Given the description of an element on the screen output the (x, y) to click on. 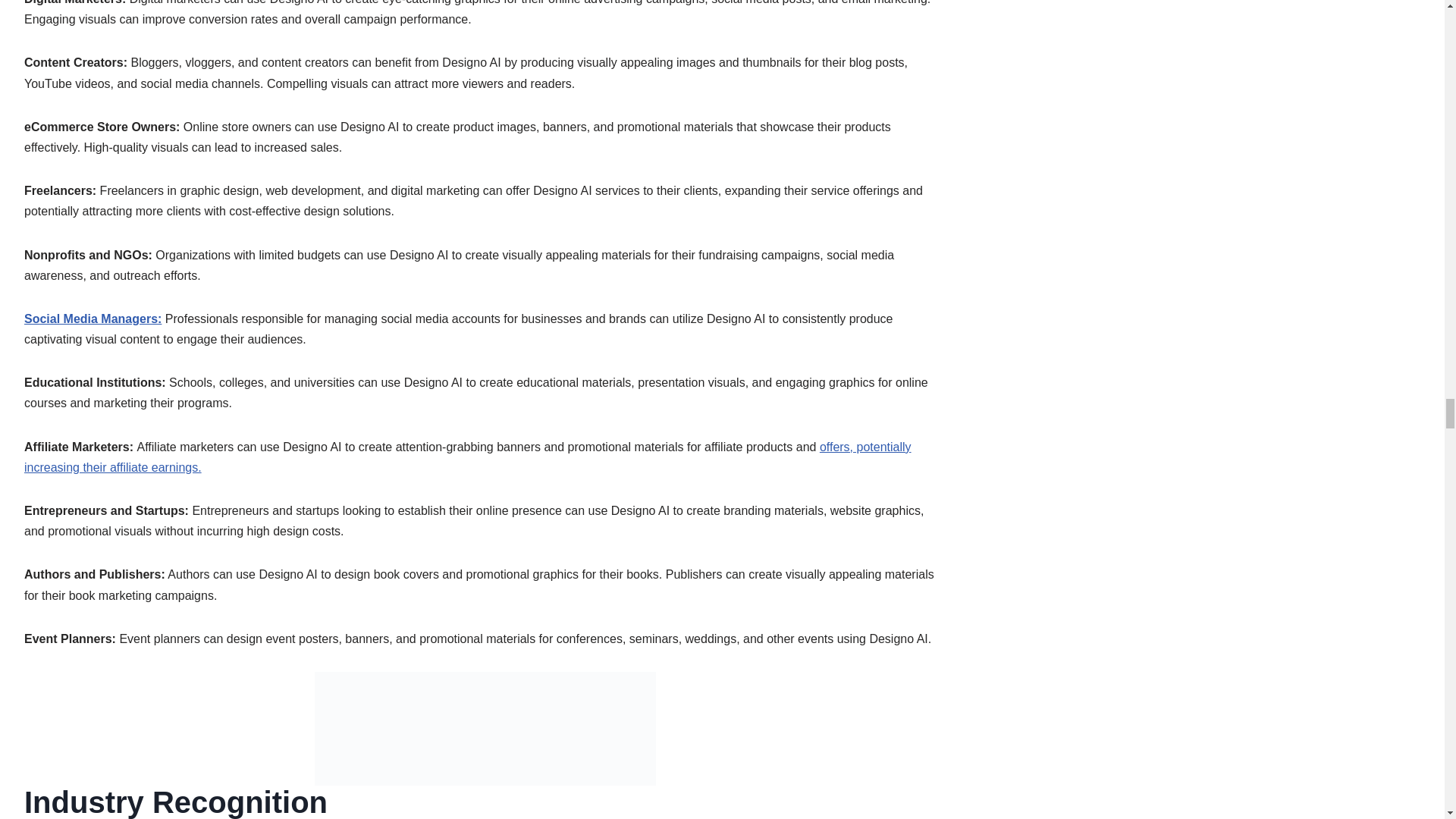
offers, potentially increasing their affiliate earnings. (467, 457)
Social Media Managers: (92, 318)
